Given the description of an element on the screen output the (x, y) to click on. 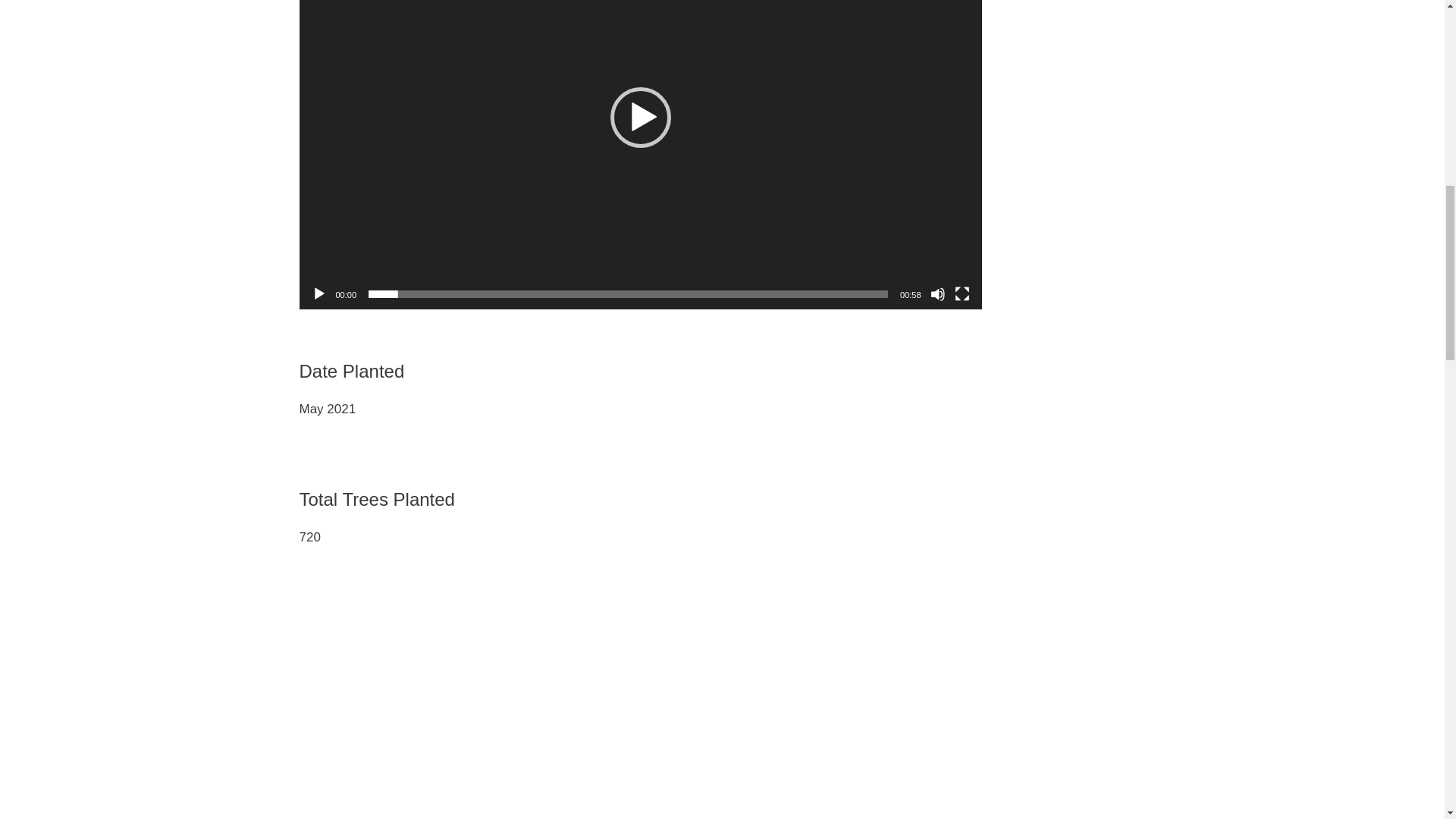
Mute (937, 294)
Planting in remnant woodland at Eastern Slopes (720, 656)
It's a dog's life ! (541, 656)
Play (318, 294)
Tree Guards at Eastern Slopes (900, 656)
Planting at sunset (363, 656)
Fullscreen (961, 294)
